Given the description of an element on the screen output the (x, y) to click on. 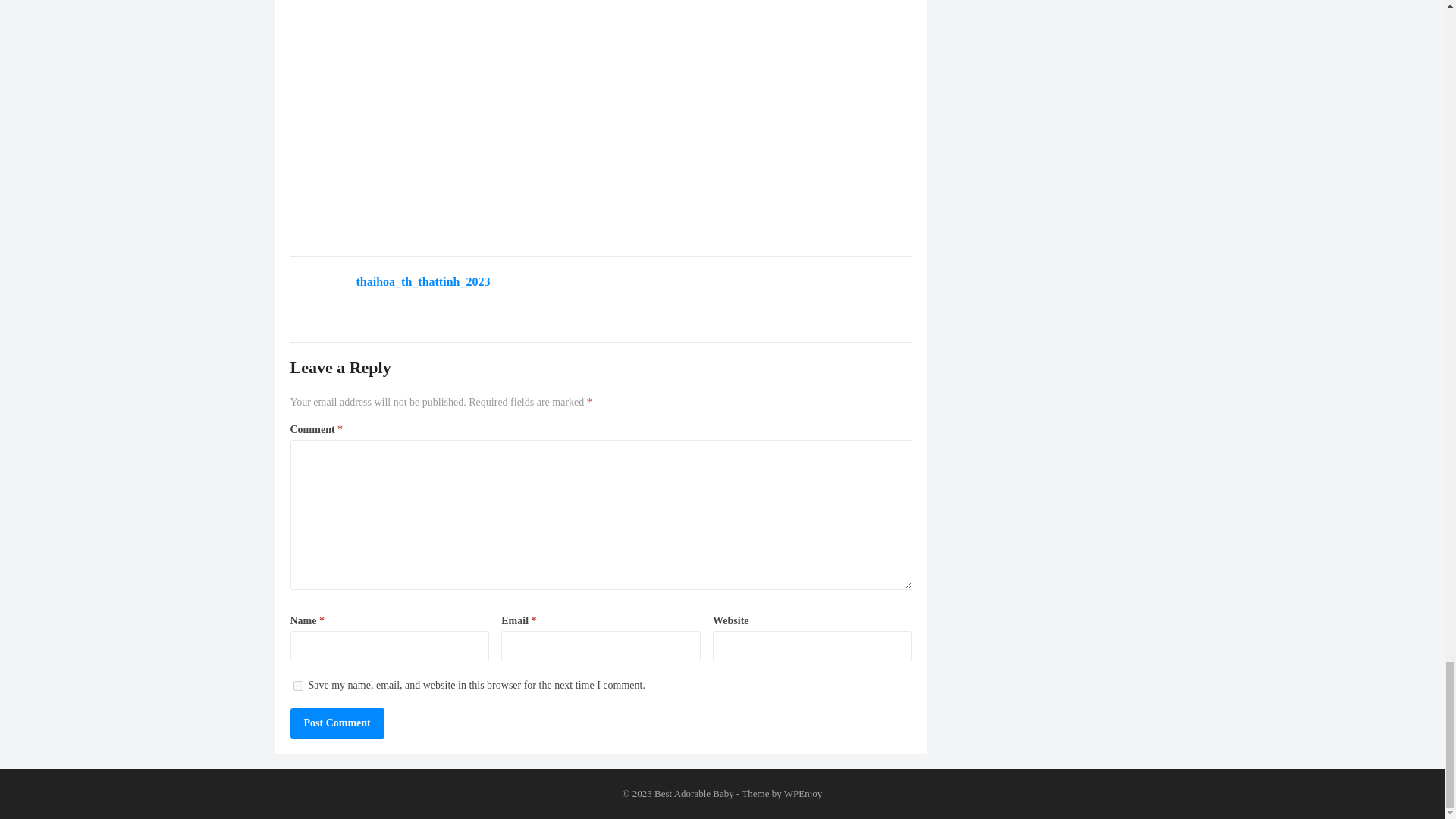
Post Comment (336, 723)
Best Adorable Baby (693, 793)
yes (297, 685)
Post Comment (336, 723)
